Given the description of an element on the screen output the (x, y) to click on. 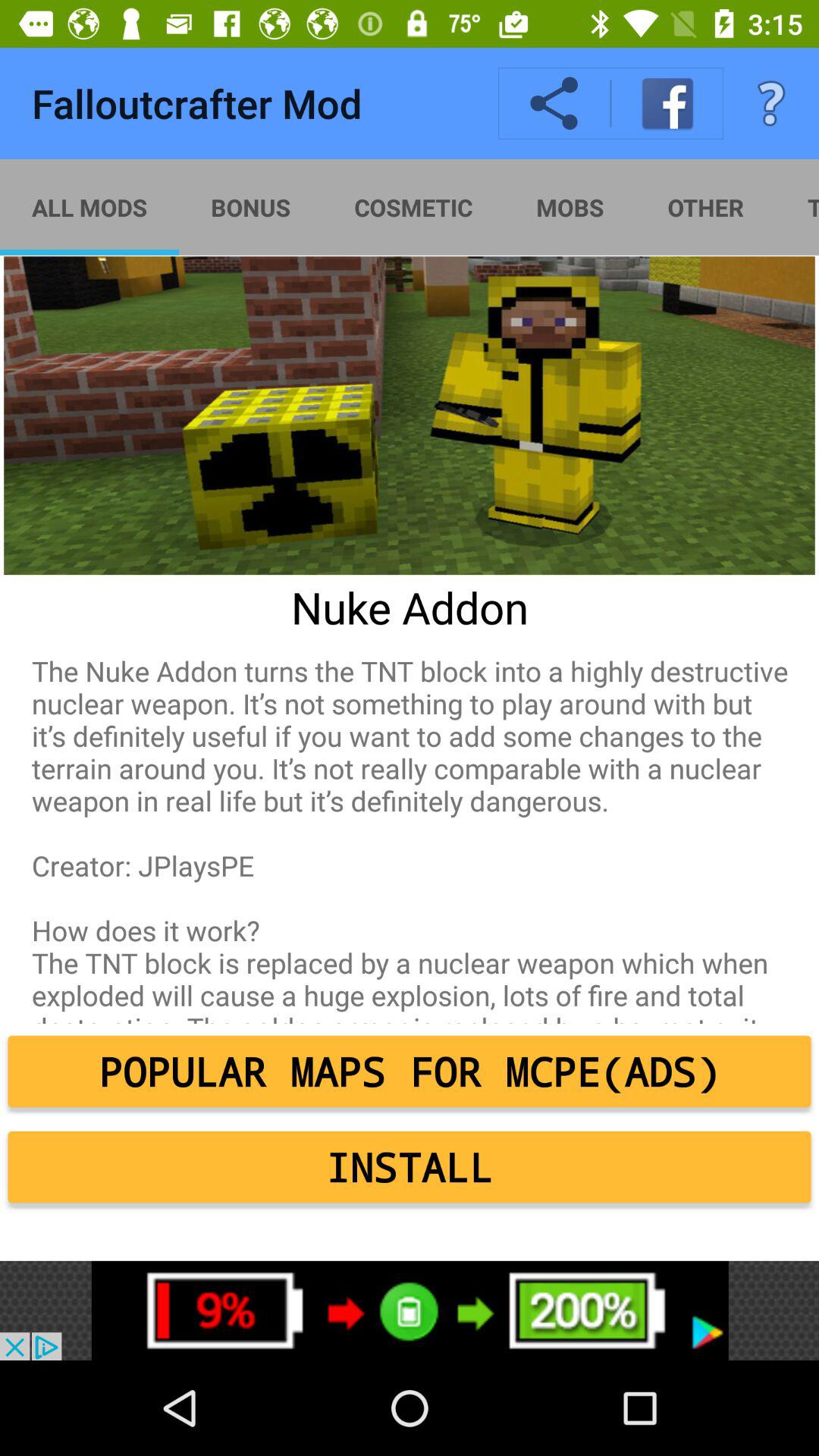
advertisement banner (409, 1310)
